Given the description of an element on the screen output the (x, y) to click on. 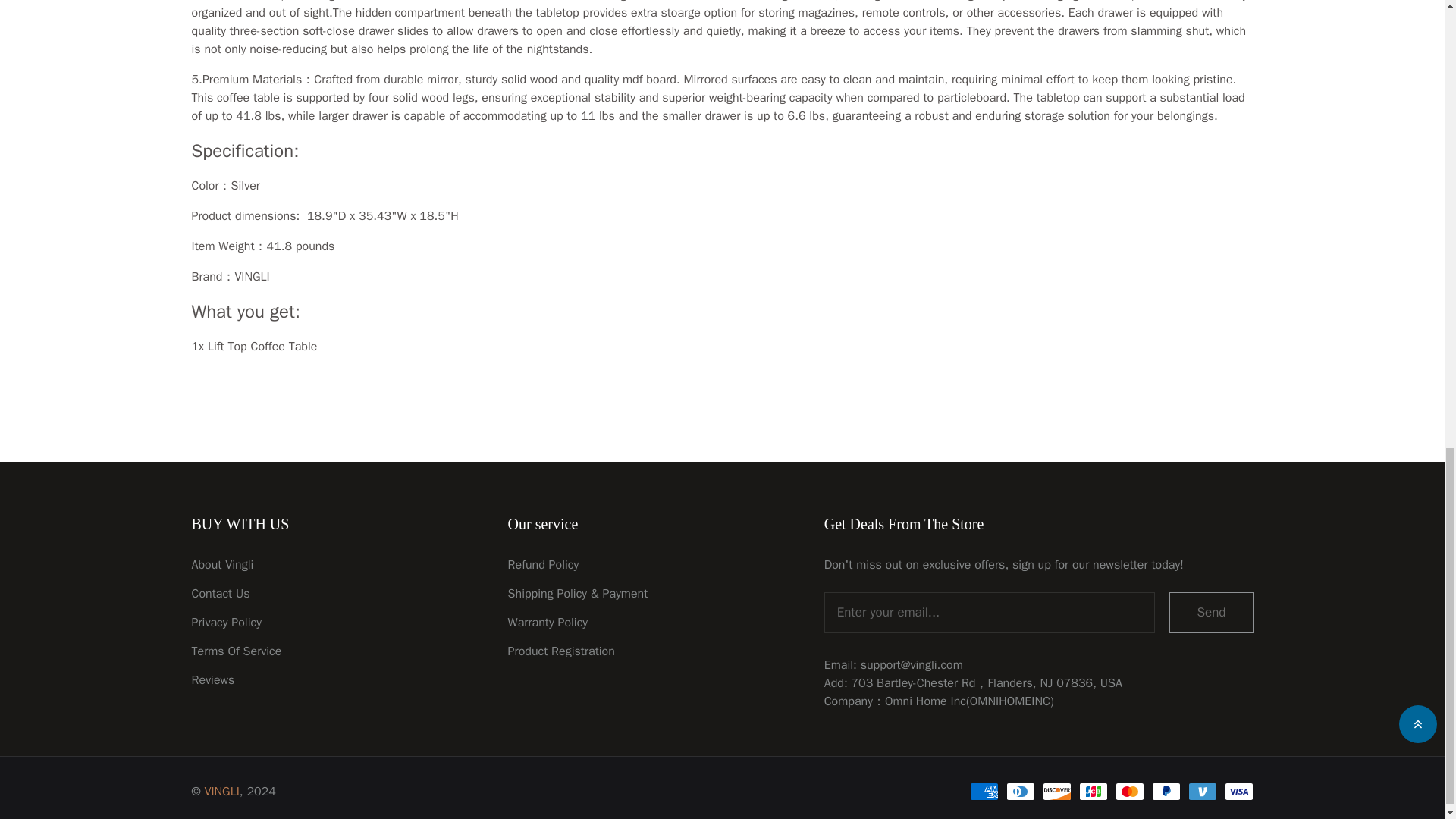
Diners Club (1019, 791)
Visa (1238, 791)
PayPal (1165, 791)
JCB (1092, 791)
Venmo (1201, 791)
Discover (1056, 791)
Mastercard (1128, 791)
American Express (983, 791)
